Given the description of an element on the screen output the (x, y) to click on. 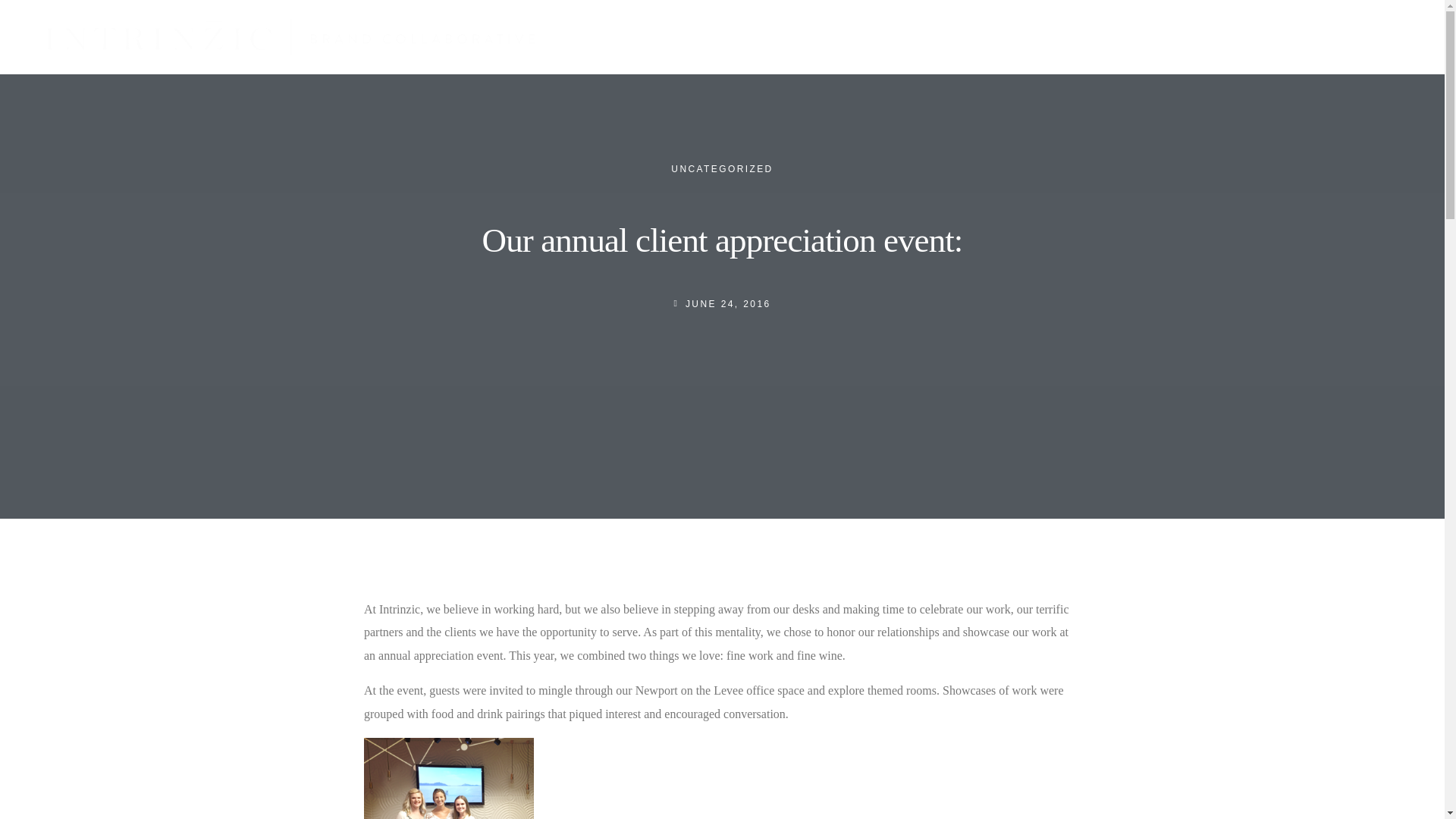
LUMINOUS (1244, 38)
ABOUT (1141, 36)
CONTACT (1115, 38)
UNCATEGORIZED (1323, 38)
APPROACH (722, 168)
WORK (965, 38)
PROCESS (1174, 38)
